Given the description of an element on the screen output the (x, y) to click on. 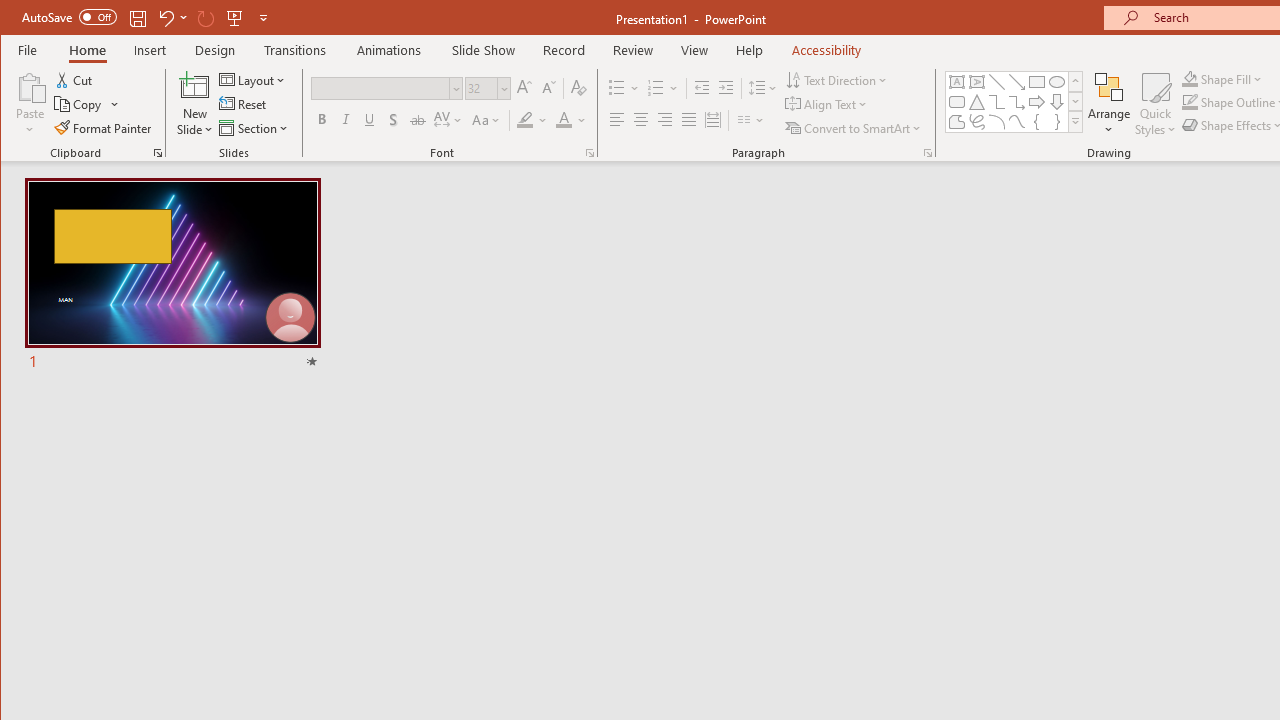
Shape Fill Orange, Accent 2 (1189, 78)
Clear Formatting (579, 88)
Quick Styles (1155, 104)
Change Case (486, 119)
Arrow: Down (1057, 102)
Layout (253, 80)
Character Spacing (449, 119)
Arrange (1108, 104)
